Given the description of an element on the screen output the (x, y) to click on. 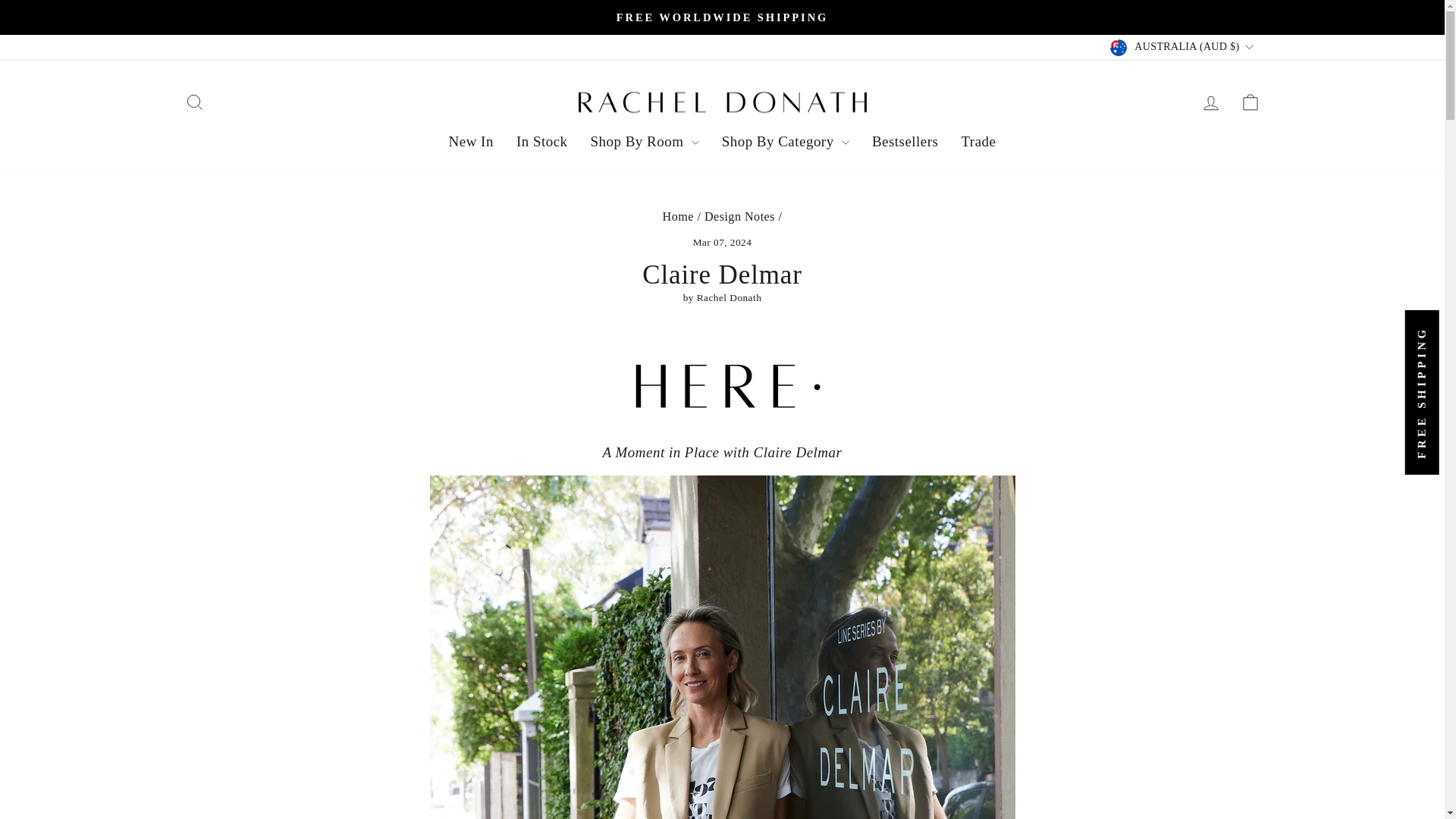
FREE WORLDWIDE SHIPPING (722, 17)
Account (1210, 102)
Icon-Bag-Minimal (1249, 102)
Back to the frontpage (678, 215)
Icon-Search (194, 102)
